Given the description of an element on the screen output the (x, y) to click on. 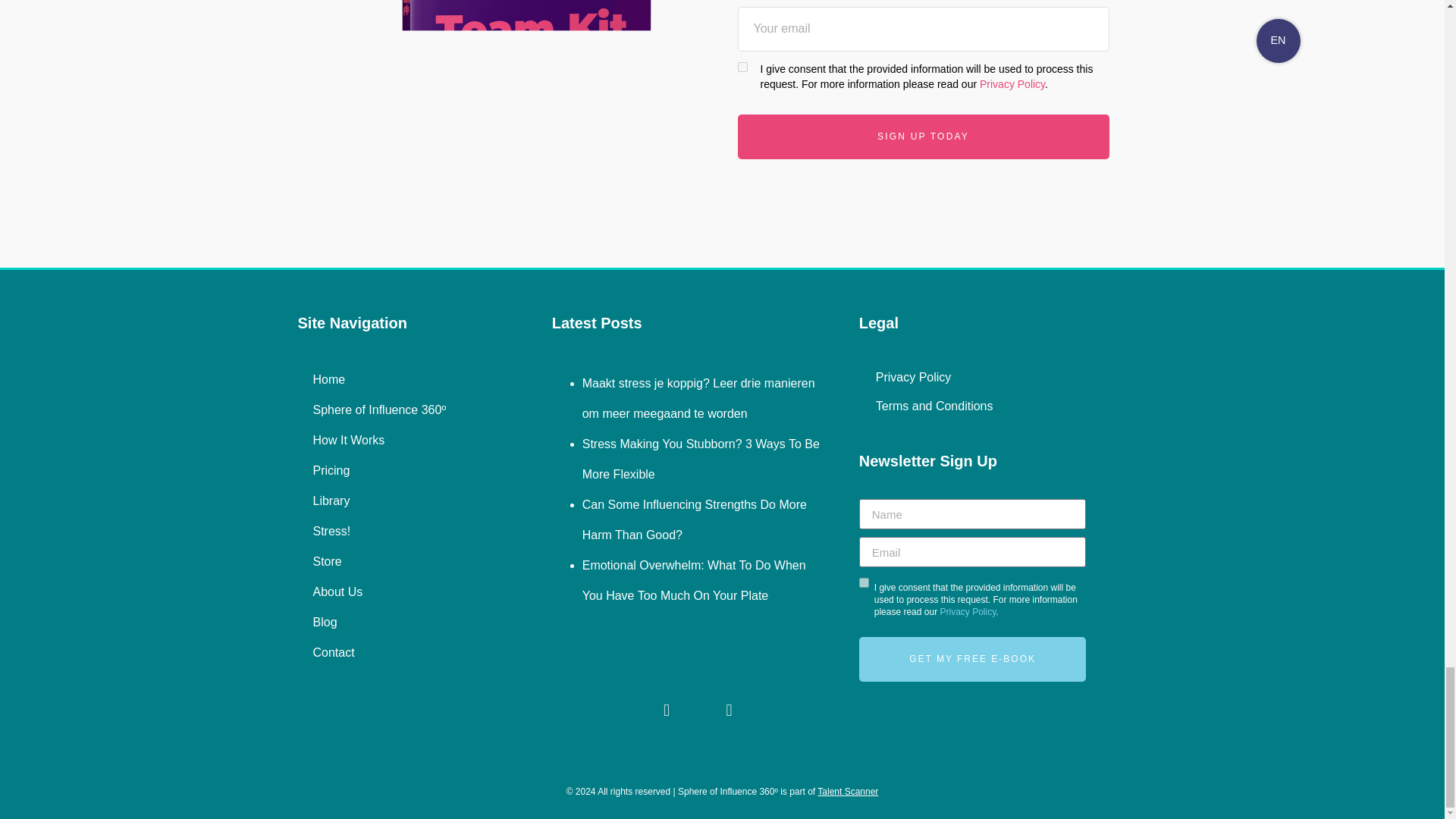
Pricing (390, 470)
Privacy Policy (1012, 83)
How It Works (390, 440)
SIGN UP TODAY (922, 136)
on (864, 583)
Library (390, 500)
on (741, 67)
Home (390, 379)
